Given the description of an element on the screen output the (x, y) to click on. 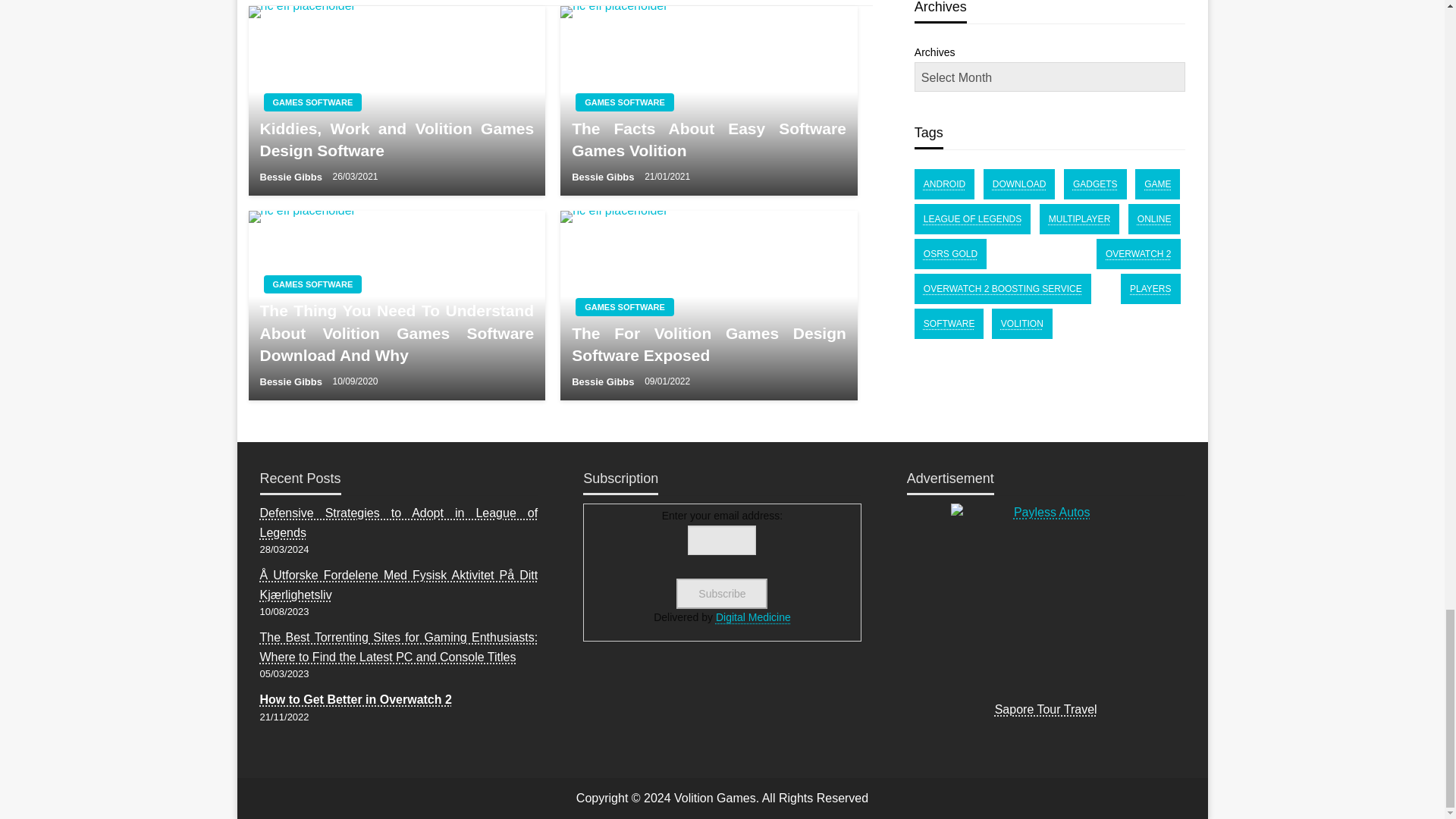
Payless Autos (1045, 597)
Bessie Gibbs (291, 381)
The For Volition Games Design Software Exposed (708, 305)
Subscribe (722, 593)
Kiddies, Work and Volition Games Design Software (396, 139)
Kiddies, Work and Volition Games Design Software (397, 100)
The Facts About Easy Software Games Volition (708, 139)
GAMES SOFTWARE (312, 284)
The Facts About Easy Software Games Volition (708, 100)
